Given the description of an element on the screen output the (x, y) to click on. 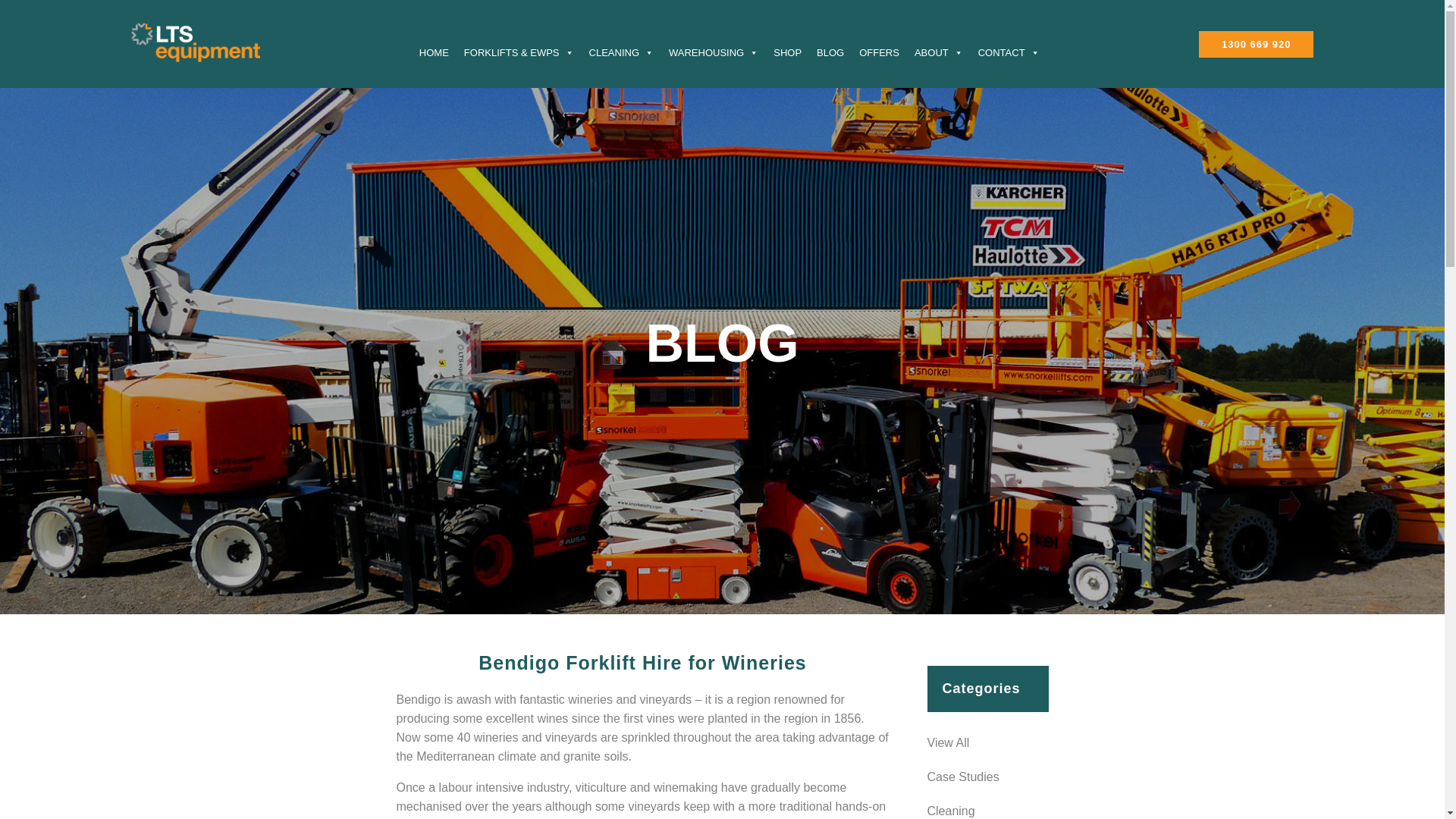
Case Studies Element type: text (987, 776)
View All Element type: text (987, 742)
HOME Element type: text (433, 52)
SHOP Element type: text (787, 52)
OFFERS Element type: text (878, 52)
WAREHOUSING Element type: text (713, 52)
ABOUT Element type: text (938, 52)
CLEANING Element type: text (621, 52)
CONTACT Element type: text (1008, 52)
BLOG Element type: text (830, 52)
1300 669 920 Element type: text (1256, 44)
FORKLIFTS & EWPS Element type: text (518, 52)
